Given the description of an element on the screen output the (x, y) to click on. 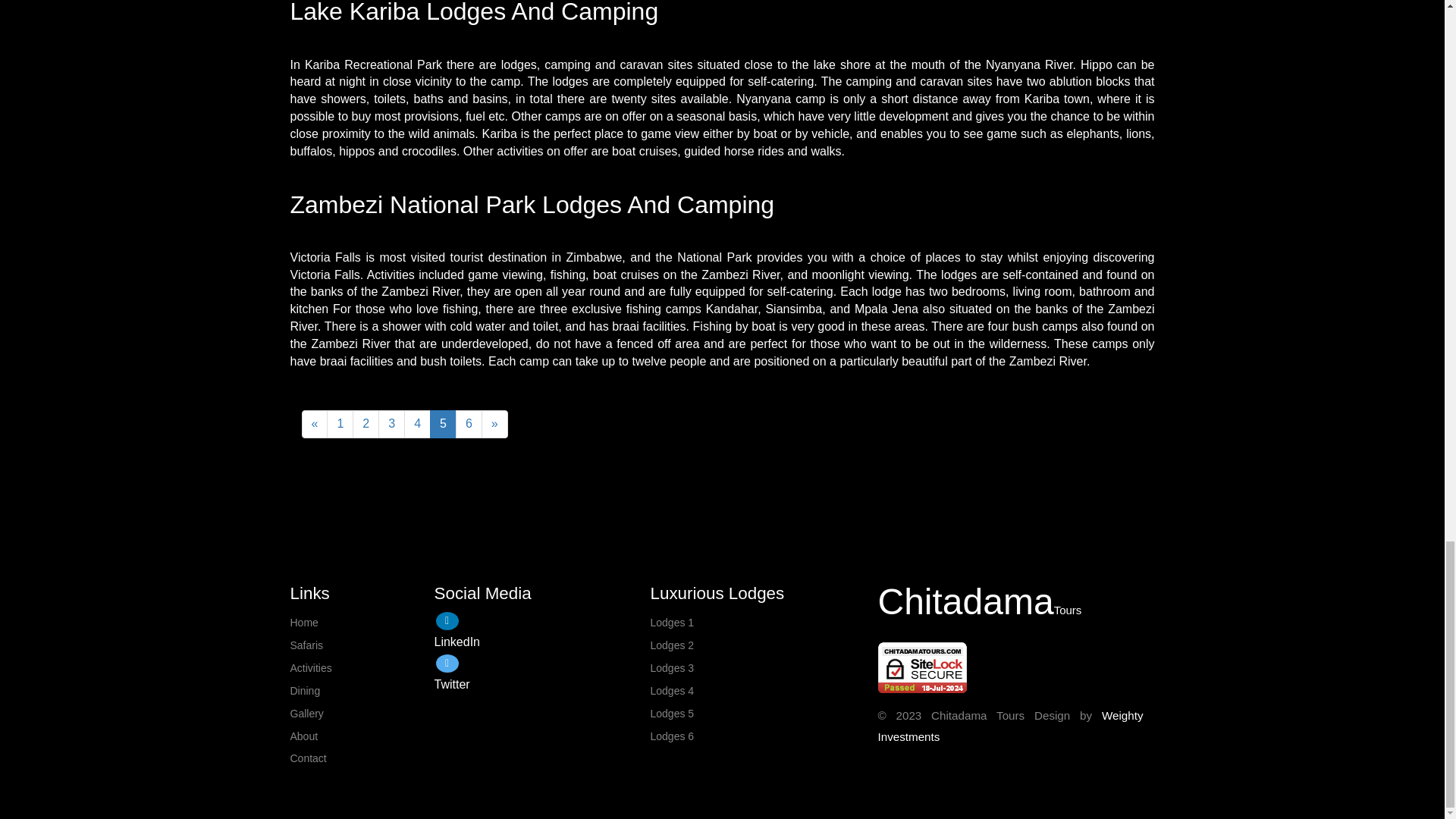
4 (417, 424)
Lodges 4 (758, 691)
Dining (361, 691)
About (361, 736)
Lodges 3 (758, 668)
6 (468, 424)
Safaris (361, 645)
Activities (361, 668)
1 (339, 424)
Lodges 6 (758, 736)
Lodges 2 (758, 645)
2 (365, 424)
Dining (361, 691)
5 (443, 424)
3 (391, 424)
